Given the description of an element on the screen output the (x, y) to click on. 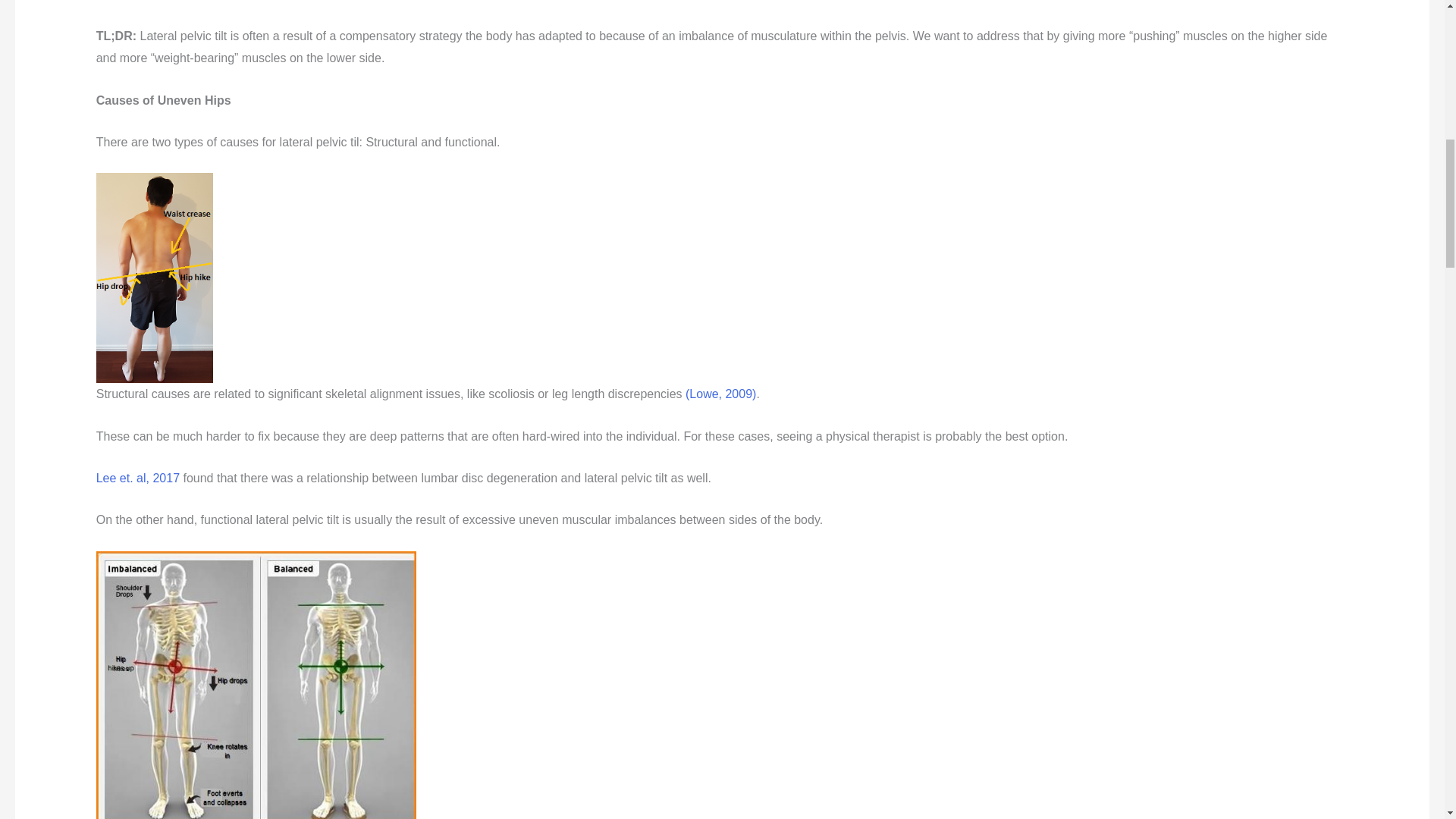
Lee et. al, 2017 (137, 477)
